Given the description of an element on the screen output the (x, y) to click on. 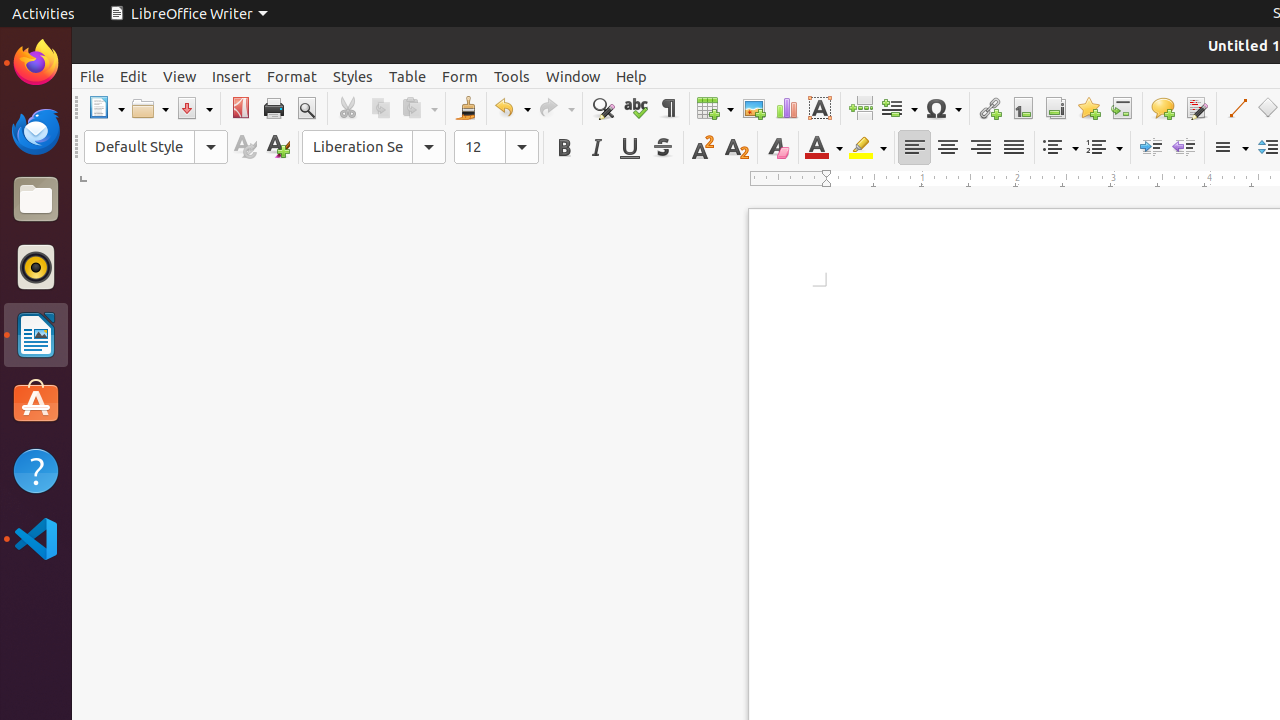
Text Box Element type: push-button (819, 108)
Rhythmbox Element type: push-button (36, 267)
Help Element type: push-button (36, 470)
Font Color Element type: push-button (824, 147)
Form Element type: menu (460, 76)
